Given the description of an element on the screen output the (x, y) to click on. 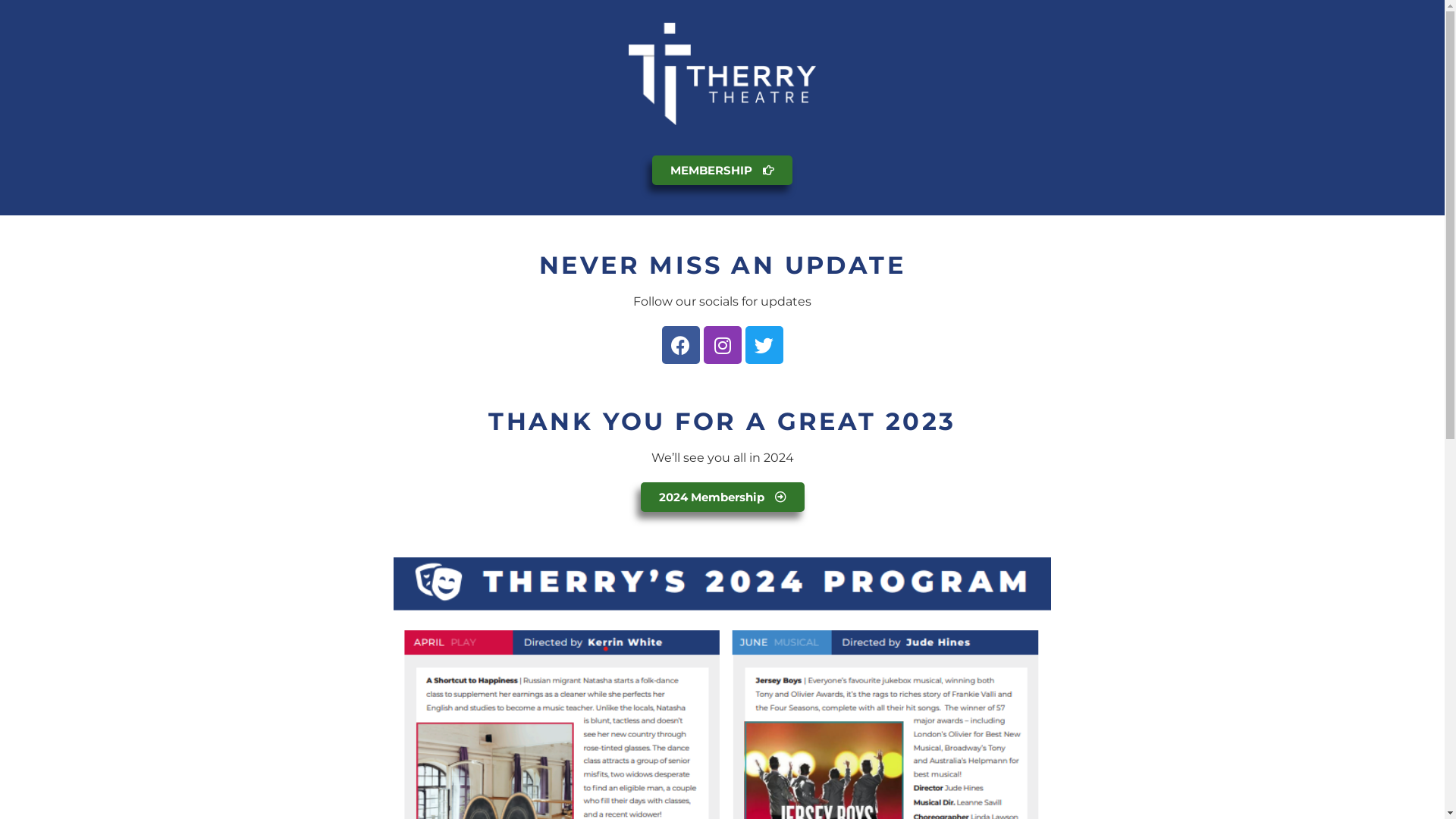
2024 Membership Element type: text (721, 496)
MEMBERSHIP Element type: text (722, 170)
